Given the description of an element on the screen output the (x, y) to click on. 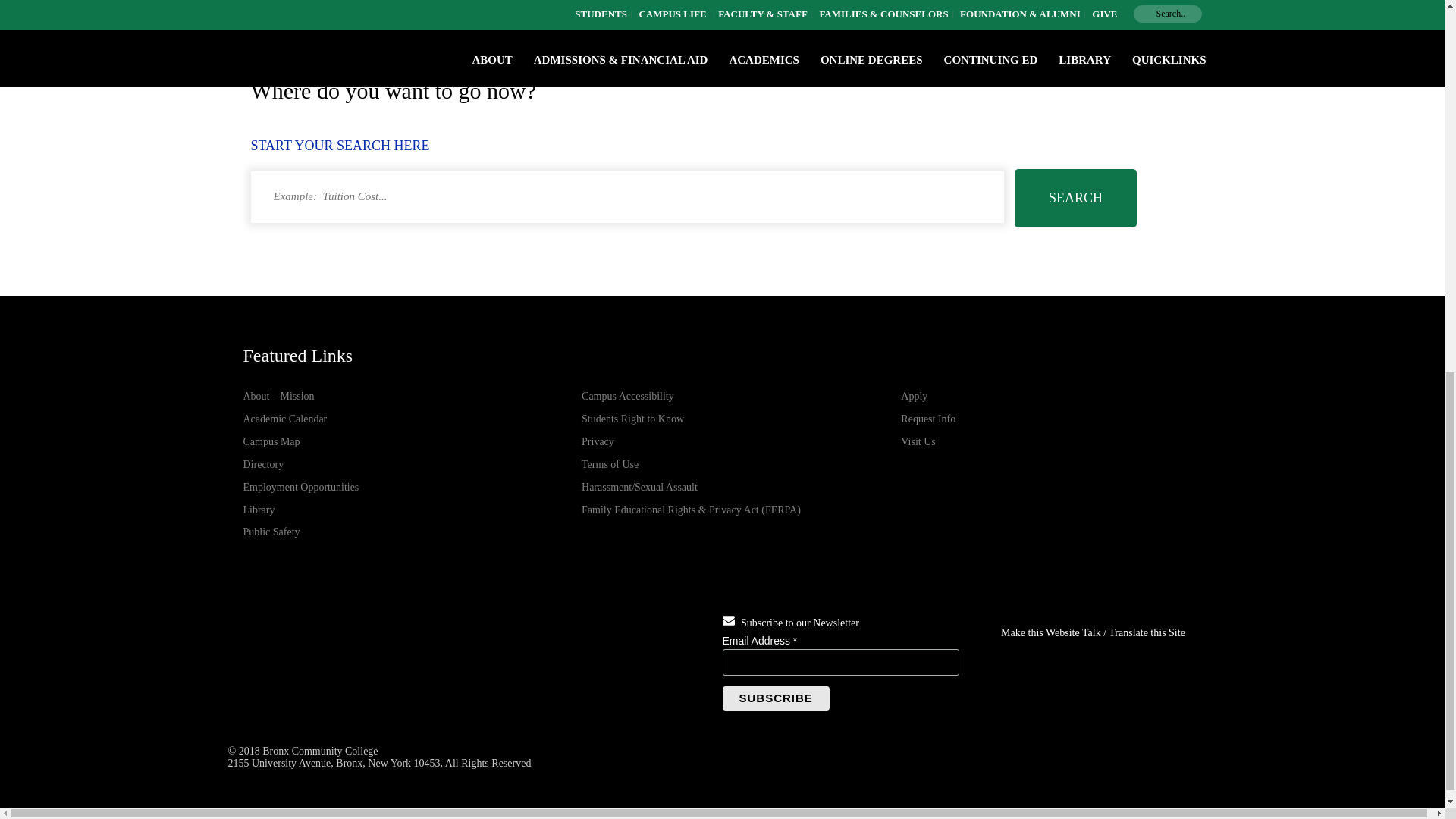
Directory (263, 464)
Search for: (626, 196)
Search (1075, 197)
Campus Accessibility (627, 396)
Public Safety (271, 531)
Academic Calendar (284, 419)
Employment Opportunities (300, 487)
Students Right to Know (632, 419)
Terms of Use (609, 464)
Subscribe (775, 698)
